Given the description of an element on the screen output the (x, y) to click on. 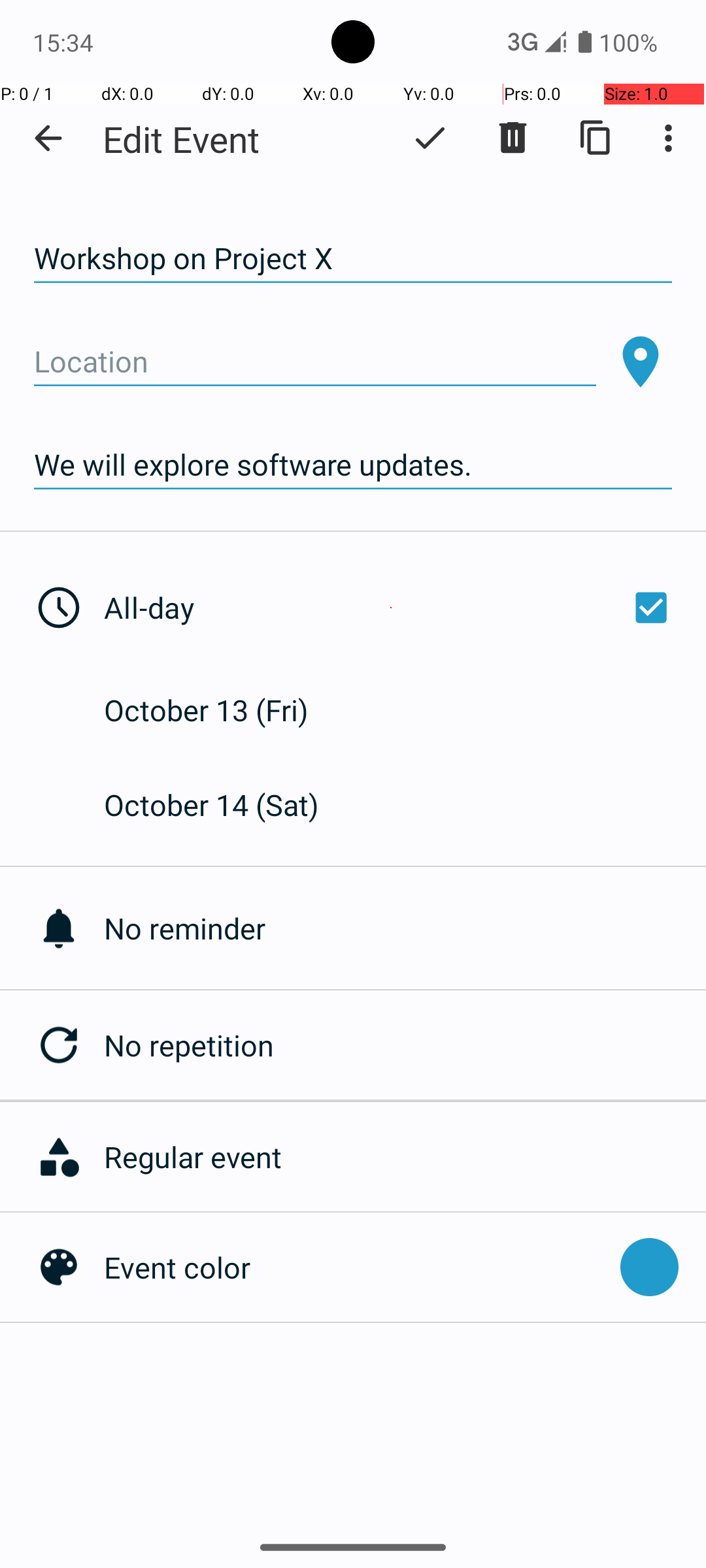
Edit Event Element type: android.widget.TextView (181, 138)
Save Element type: android.widget.Button (429, 137)
Duplicate event Element type: android.widget.Button (595, 137)
Workshop on Project X Element type: android.widget.EditText (352, 258)
Location Element type: android.widget.EditText (314, 361)
We will explore software updates. Element type: android.widget.EditText (352, 465)
October 13 (Fri) Element type: android.widget.TextView (219, 709)
October 14 (Sat) Element type: android.widget.TextView (224, 804)
No reminder Element type: android.widget.TextView (404, 927)
No repetition Element type: android.widget.TextView (404, 1044)
All-day Element type: android.widget.CheckBox (390, 607)
Regular event Element type: android.widget.TextView (397, 1156)
Event color Element type: android.widget.TextView (354, 1266)
